Given the description of an element on the screen output the (x, y) to click on. 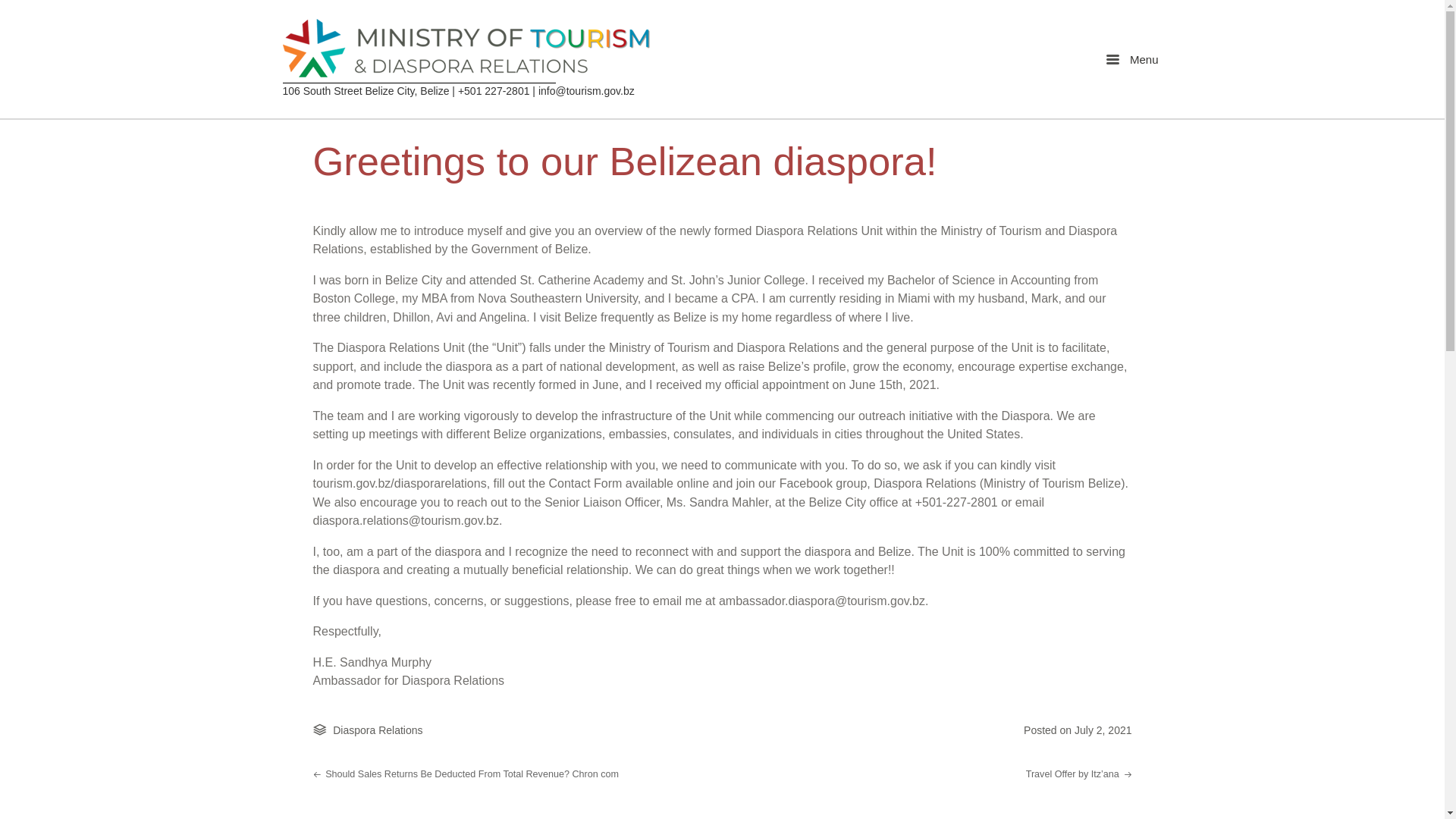
July 2, 2021 Element type: text (1103, 730)
Diaspora Relations Element type: text (377, 730)
Menu Element type: text (1131, 59)
Greetings to our Belizean diaspora! Element type: text (624, 160)
Ministry of Tourism Element type: hover (468, 50)
